Given the description of an element on the screen output the (x, y) to click on. 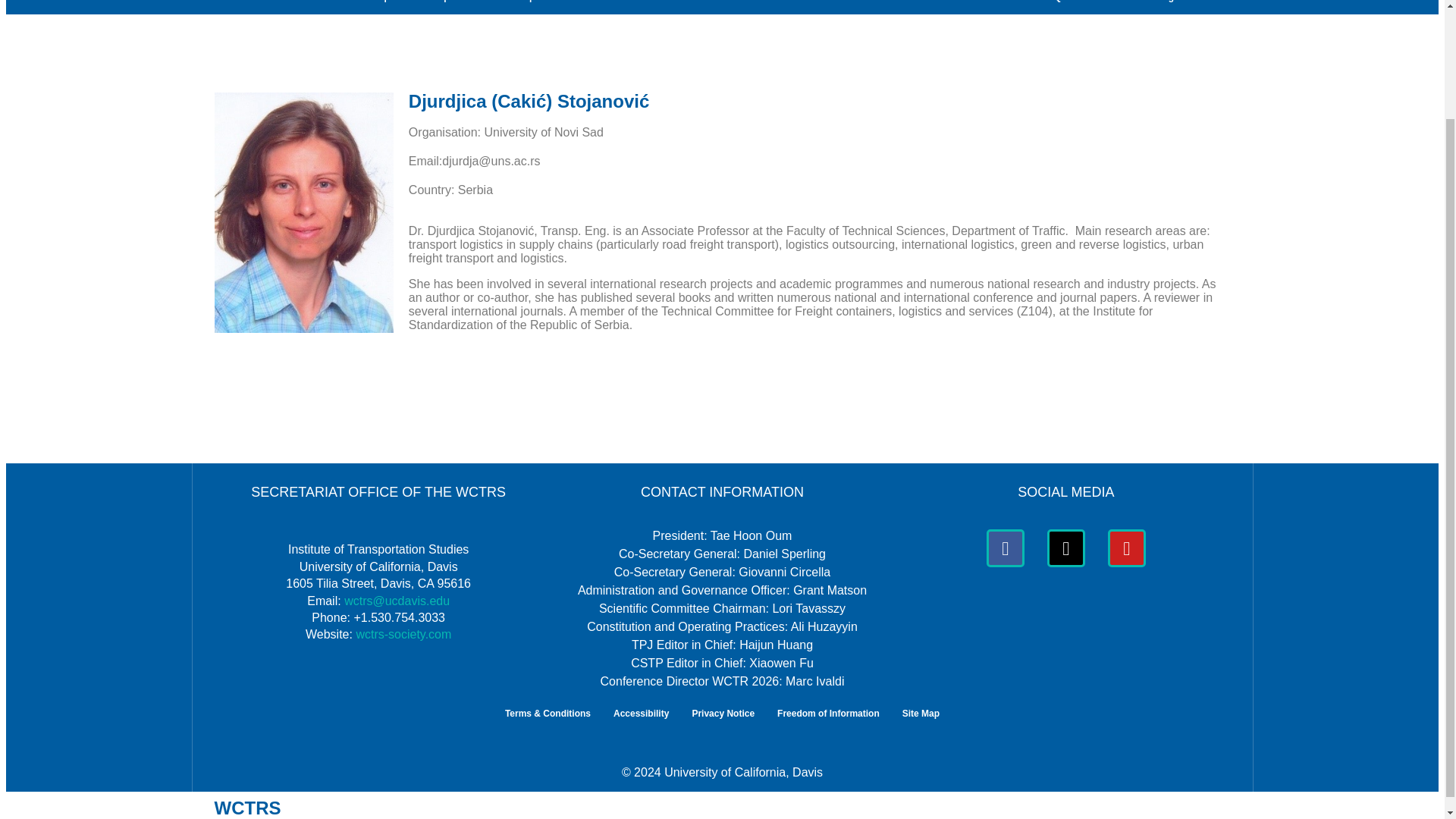
World Conferences (634, 7)
Prizes (860, 7)
WCTRS Publications (764, 7)
Our Partner Organisations (1160, 7)
WCTRS Membership (350, 7)
WCTRS-Y Initiative (958, 7)
About (243, 7)
FAQs (1054, 7)
Special Interest Groups (494, 7)
